Given the description of an element on the screen output the (x, y) to click on. 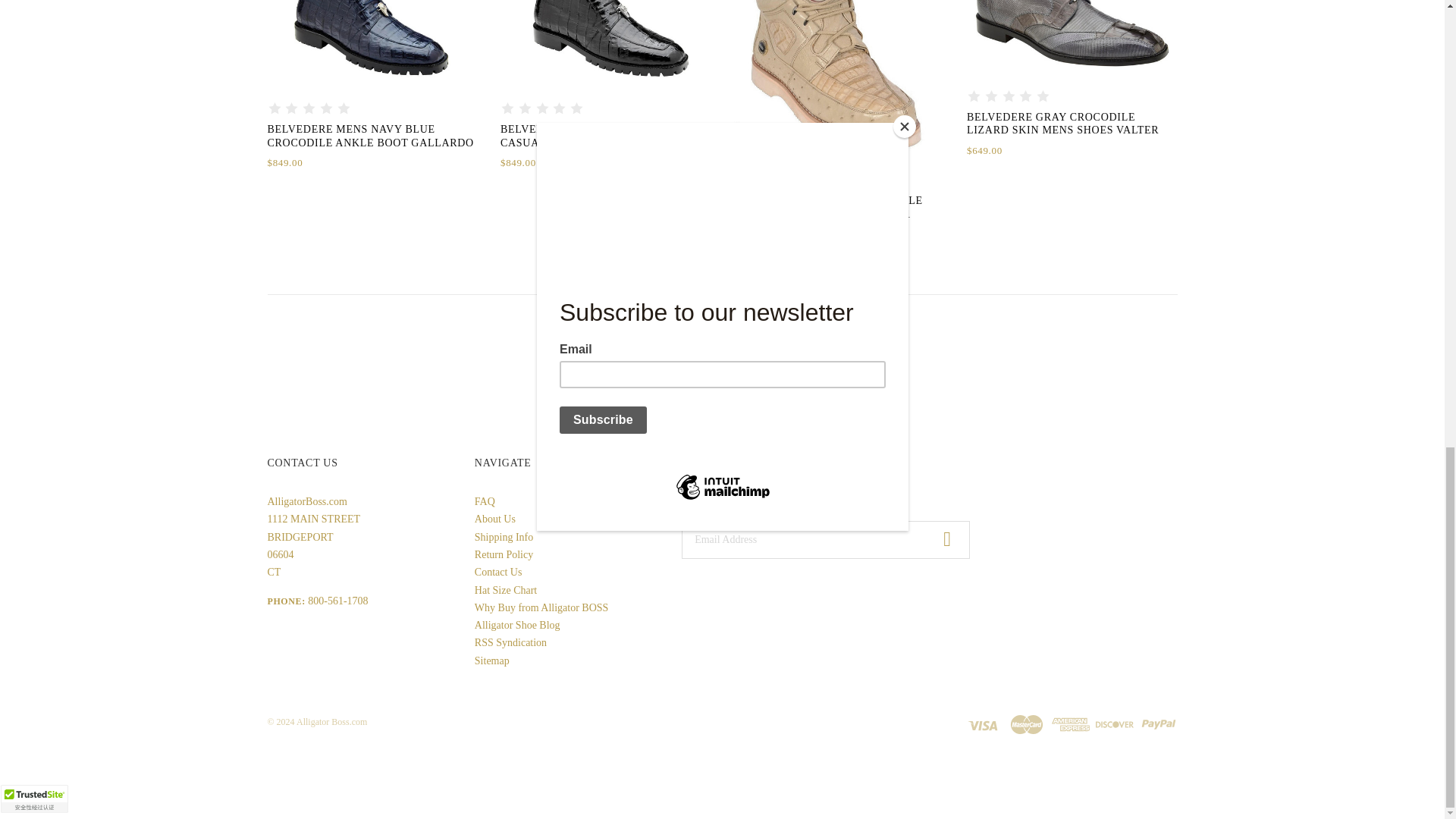
TrustedSite Certified (34, 798)
